Given the description of an element on the screen output the (x, y) to click on. 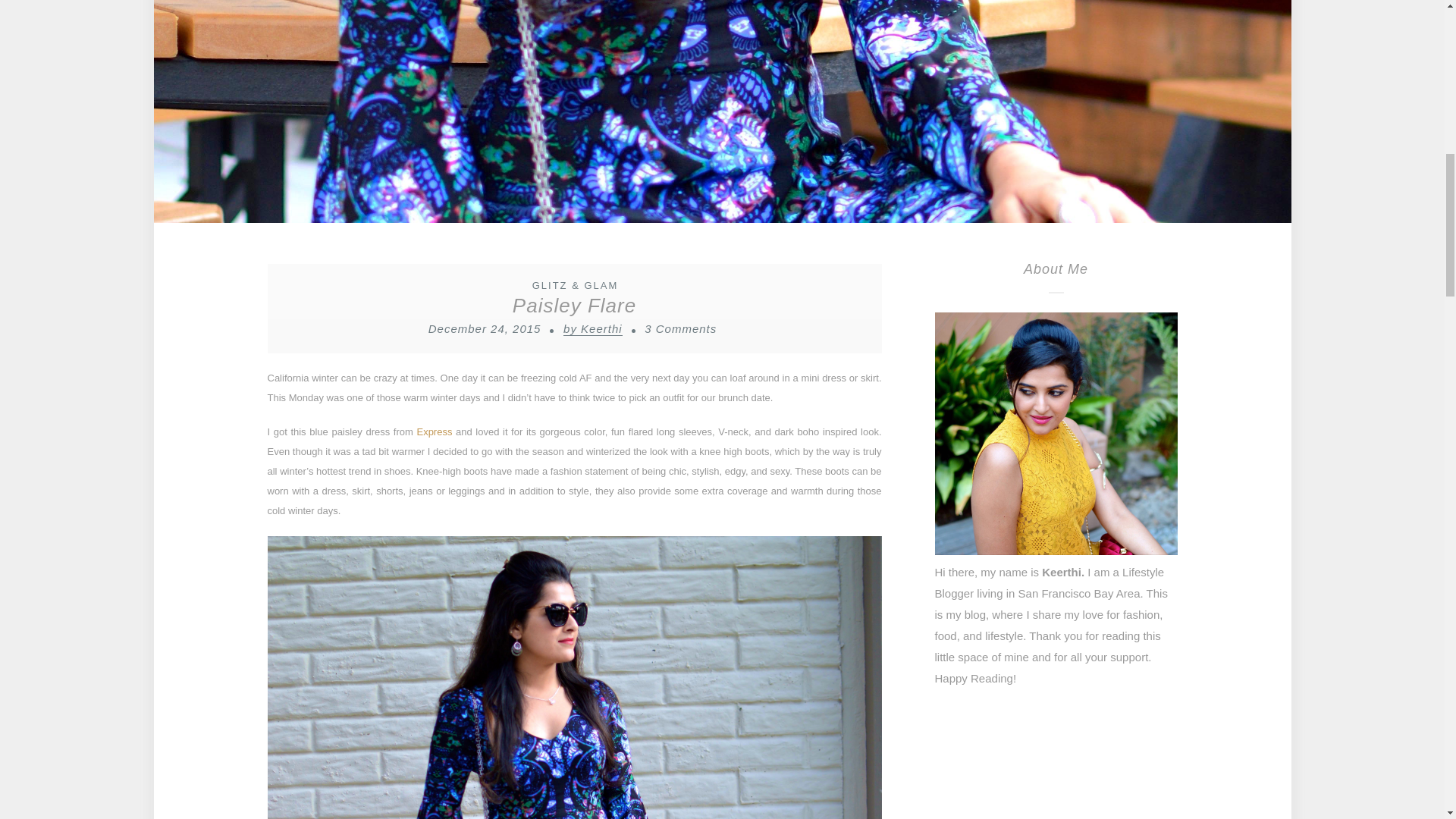
3 Comments (680, 328)
Express (433, 431)
by Keerthi (593, 328)
December 24, 2015 (484, 328)
